Given the description of an element on the screen output the (x, y) to click on. 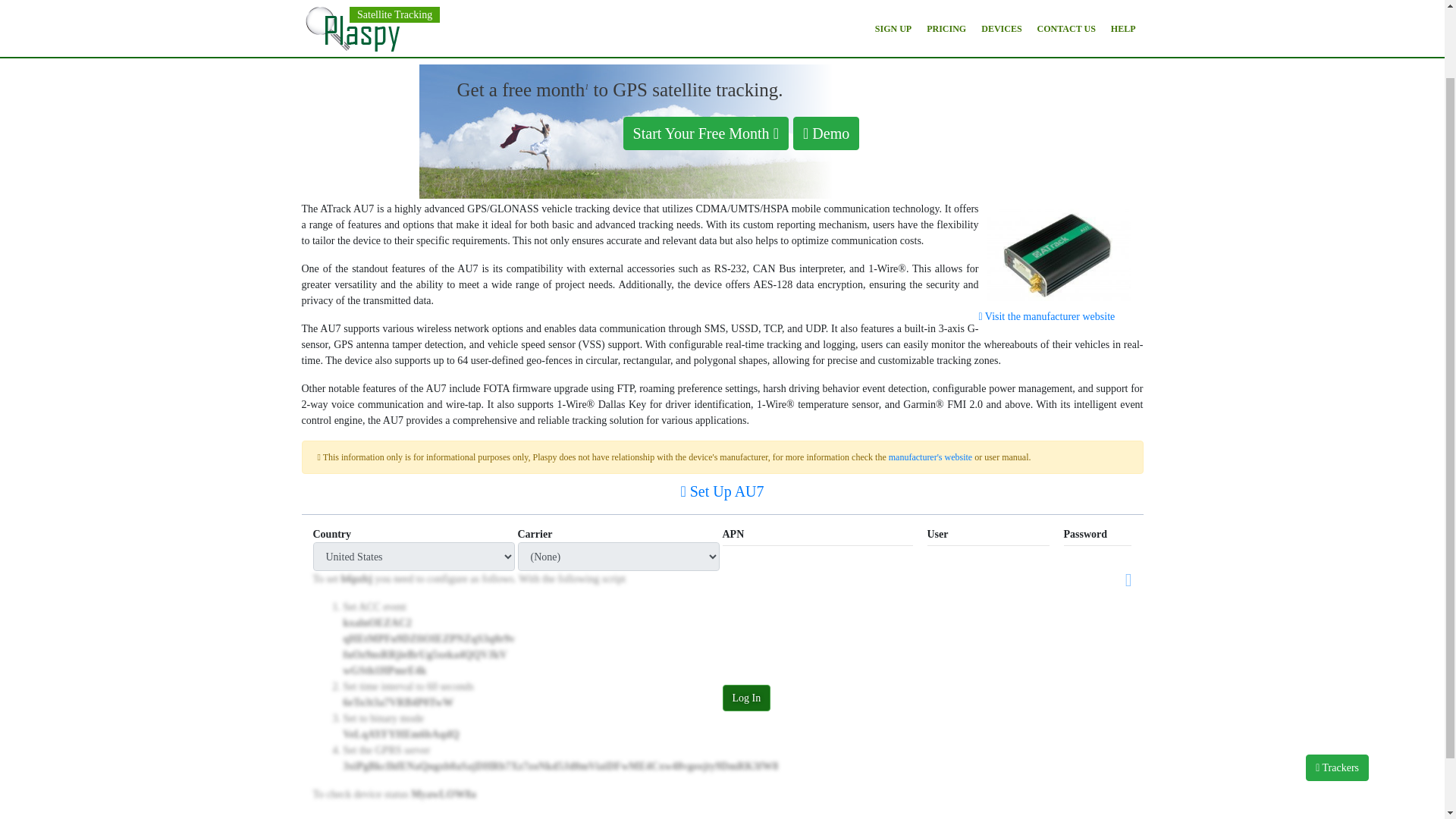
Visit the manufacturer website (1046, 316)
Demo (827, 133)
Trackers (1337, 686)
Trackers (1337, 686)
manufacturer's website (930, 457)
Log In (746, 697)
Start Your Free Month (706, 132)
